Given the description of an element on the screen output the (x, y) to click on. 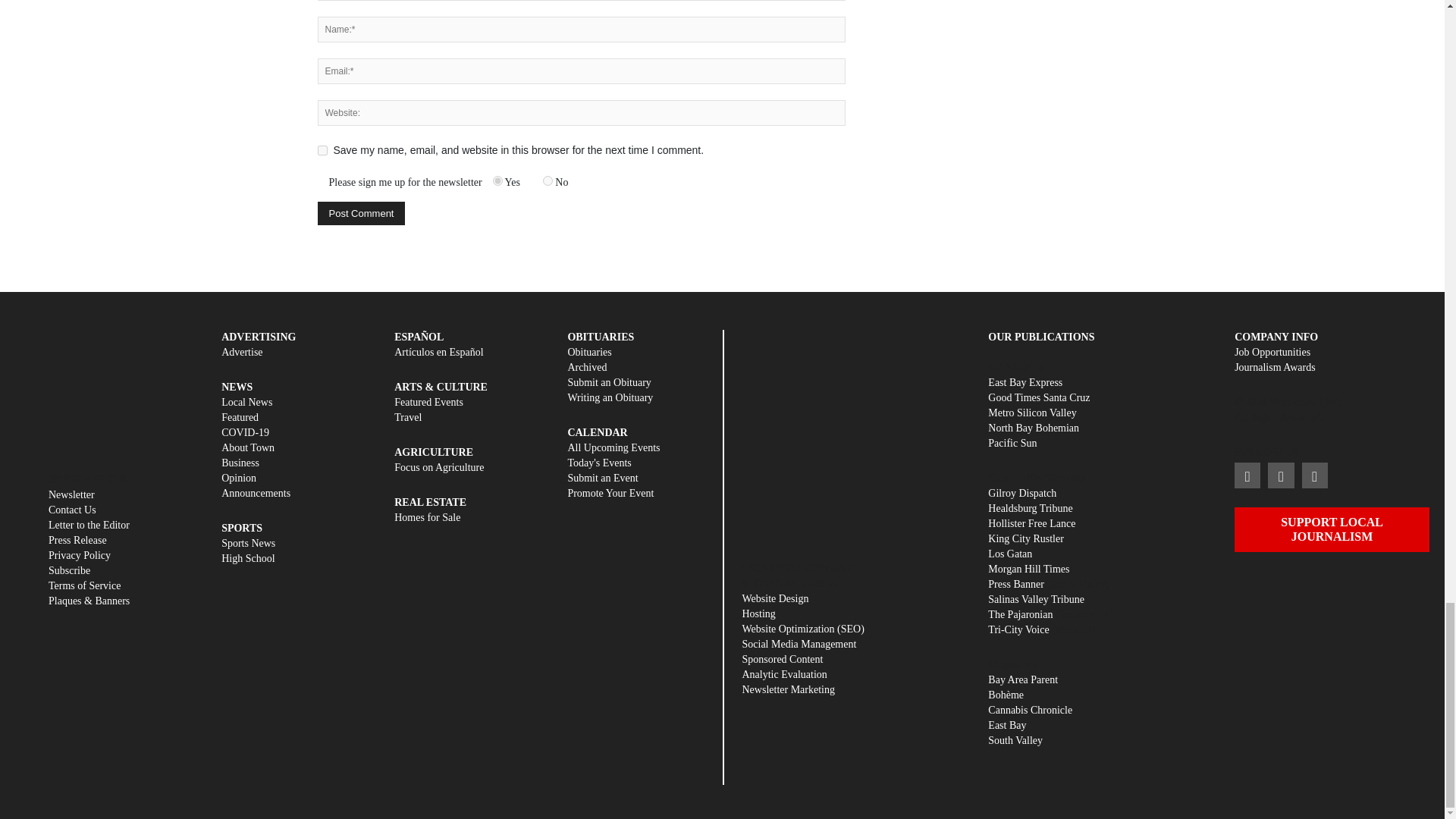
Yes (497, 180)
yes (321, 150)
Post Comment (360, 213)
No (548, 180)
